Given the description of an element on the screen output the (x, y) to click on. 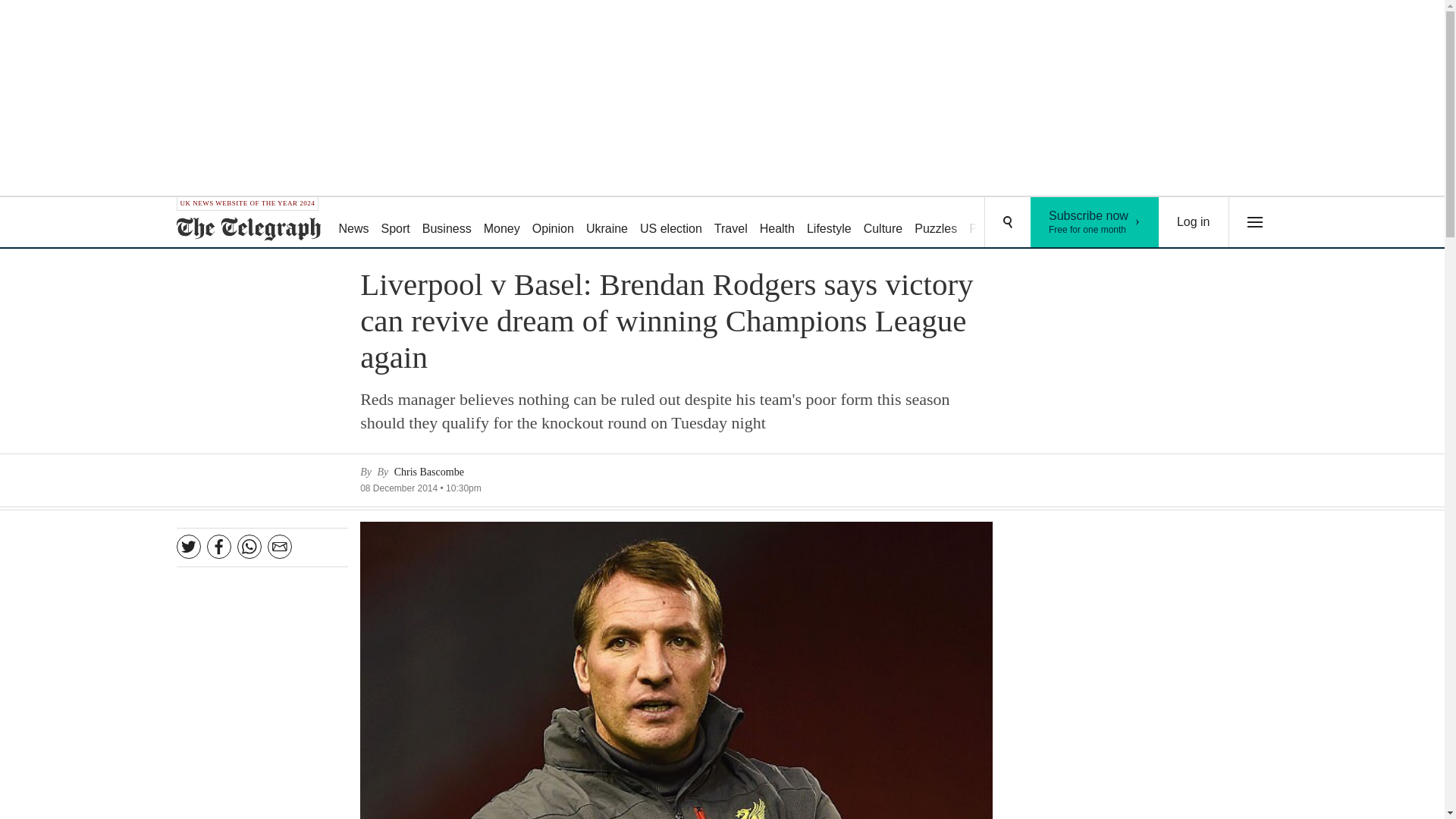
Business (446, 223)
Lifestyle (828, 223)
US election (670, 223)
Travel (1094, 222)
Culture (730, 223)
Money (882, 223)
Podcasts (501, 223)
Opinion (993, 223)
Ukraine (552, 223)
Puzzles (606, 223)
Log in (935, 223)
Health (1193, 222)
